Given the description of an element on the screen output the (x, y) to click on. 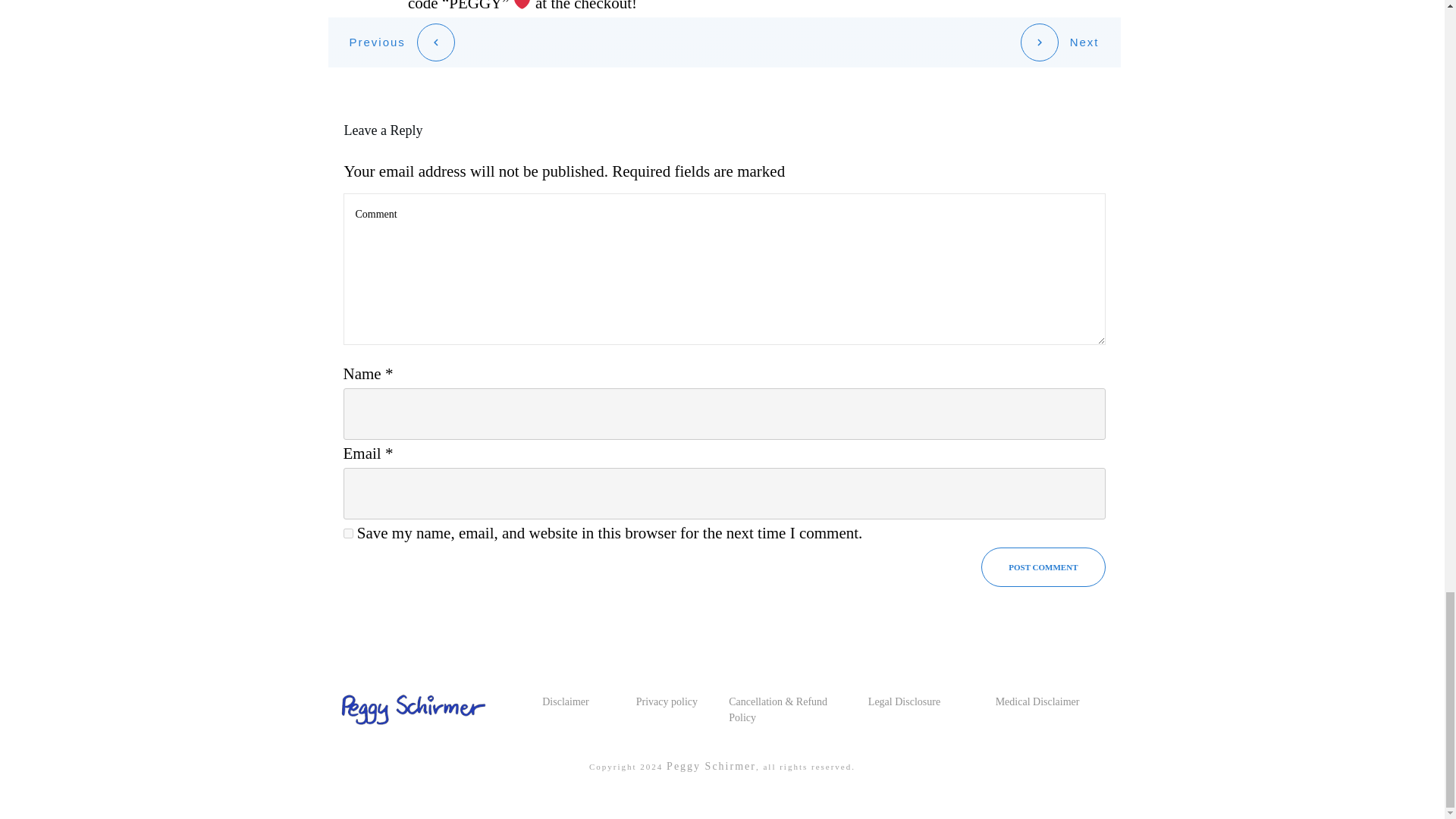
Next (1059, 42)
POST COMMENT (1043, 567)
Privacy policy (666, 701)
Peggy Schirmer, header website, TB blue (409, 708)
Previous (401, 42)
Medical Disclaimer (1037, 701)
yes (347, 533)
Disclaimer (564, 701)
Legal Disclosure (903, 701)
